Given the description of an element on the screen output the (x, y) to click on. 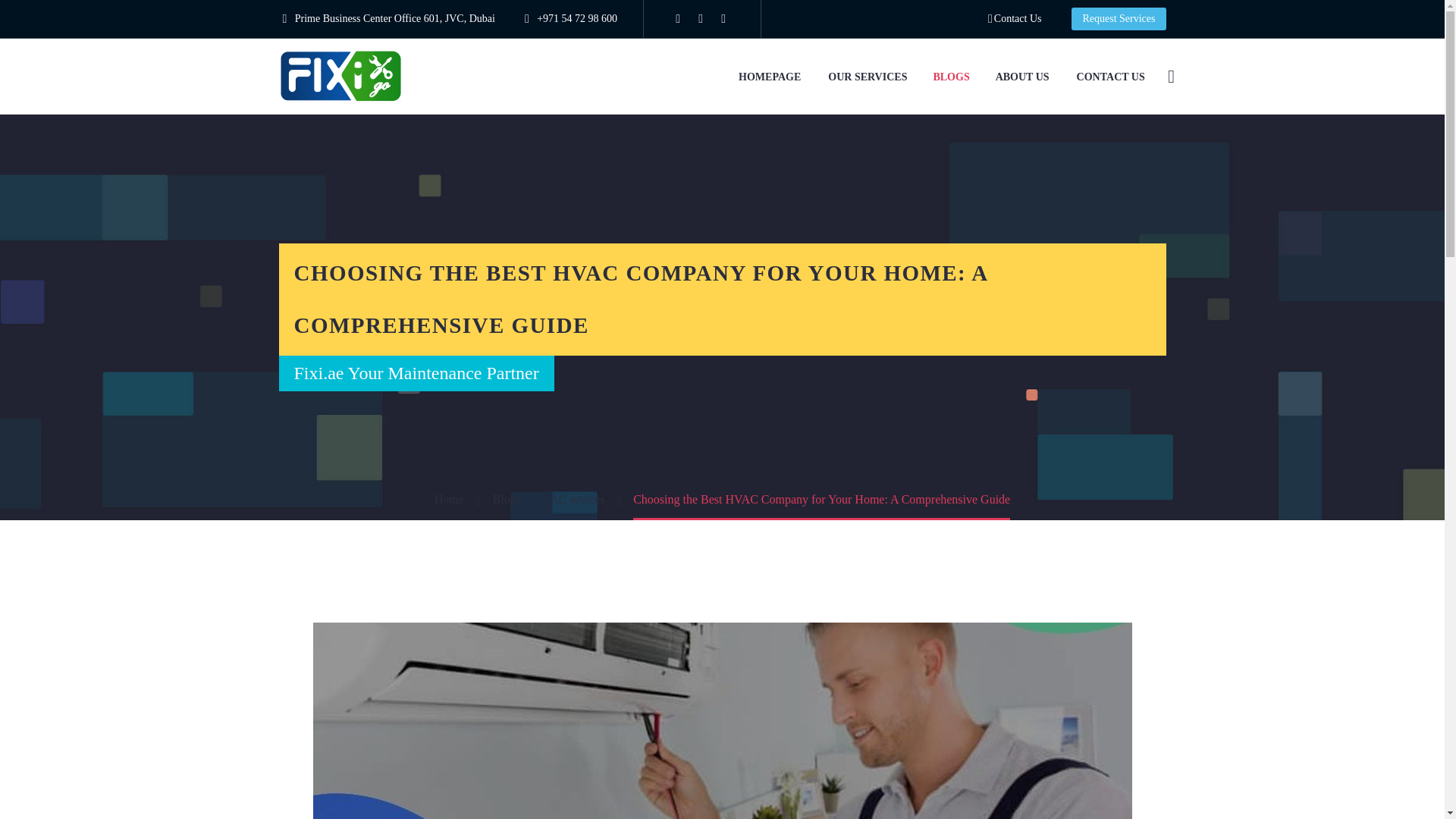
OUR SERVICES (867, 75)
HOMEPAGE (769, 75)
WhatsApp (723, 19)
Facebook (677, 19)
Contact Us (1014, 18)
Request Services (1118, 18)
Instagram (699, 19)
